Given the description of an element on the screen output the (x, y) to click on. 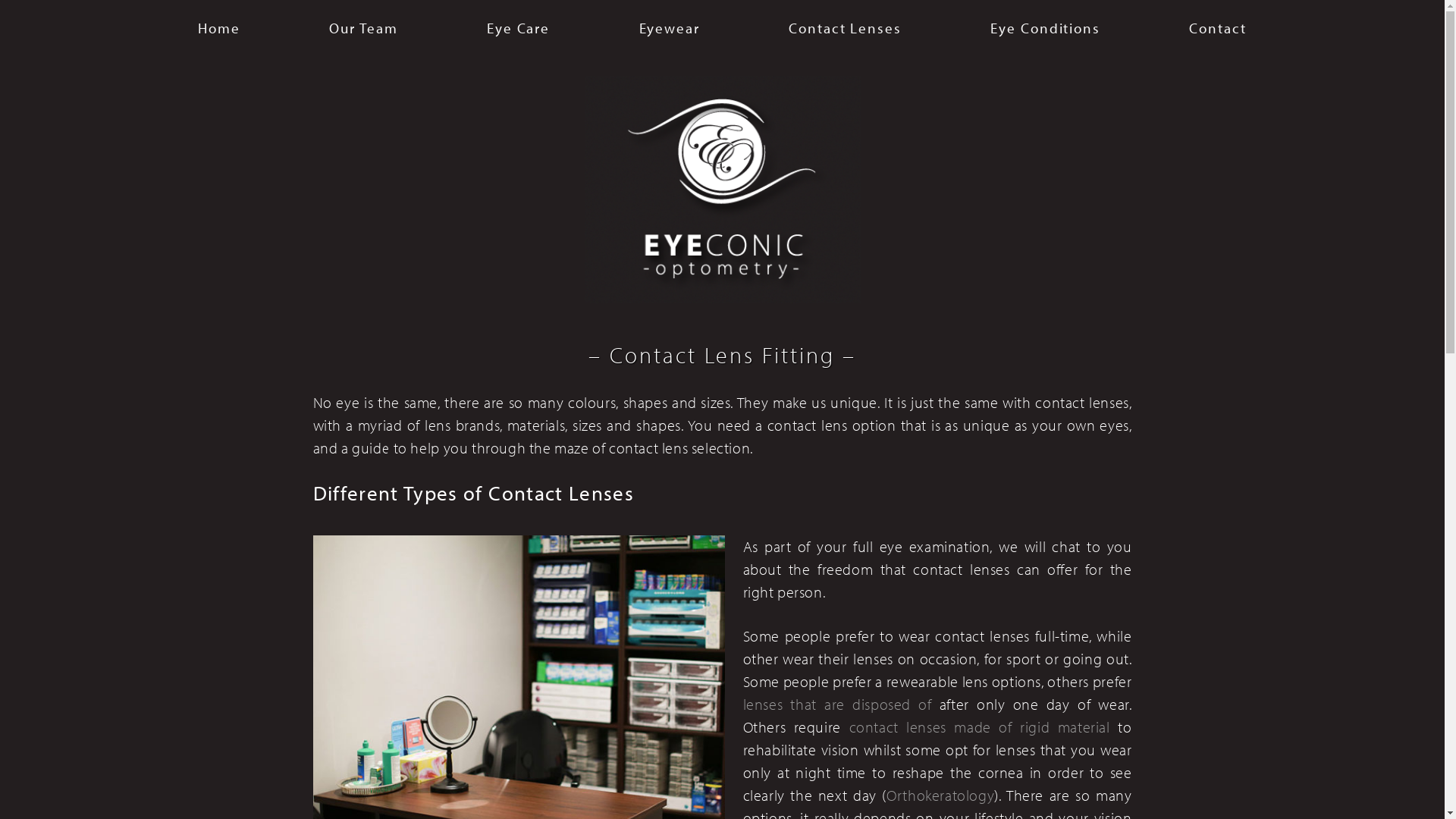
Contact Element type: text (1217, 28)
Eye Care Element type: text (518, 28)
Orthokeratology Element type: text (940, 794)
contact lenses made of rigid material Element type: text (979, 726)
Skip to primary navigation Element type: text (22, 0)
Home Element type: text (218, 28)
lenses that are disposed of Element type: text (837, 703)
Eyewear Element type: text (669, 28)
Eye Conditions Element type: text (1045, 28)
Contact Lenses Element type: text (844, 28)
Our Team Element type: text (362, 28)
